Given the description of an element on the screen output the (x, y) to click on. 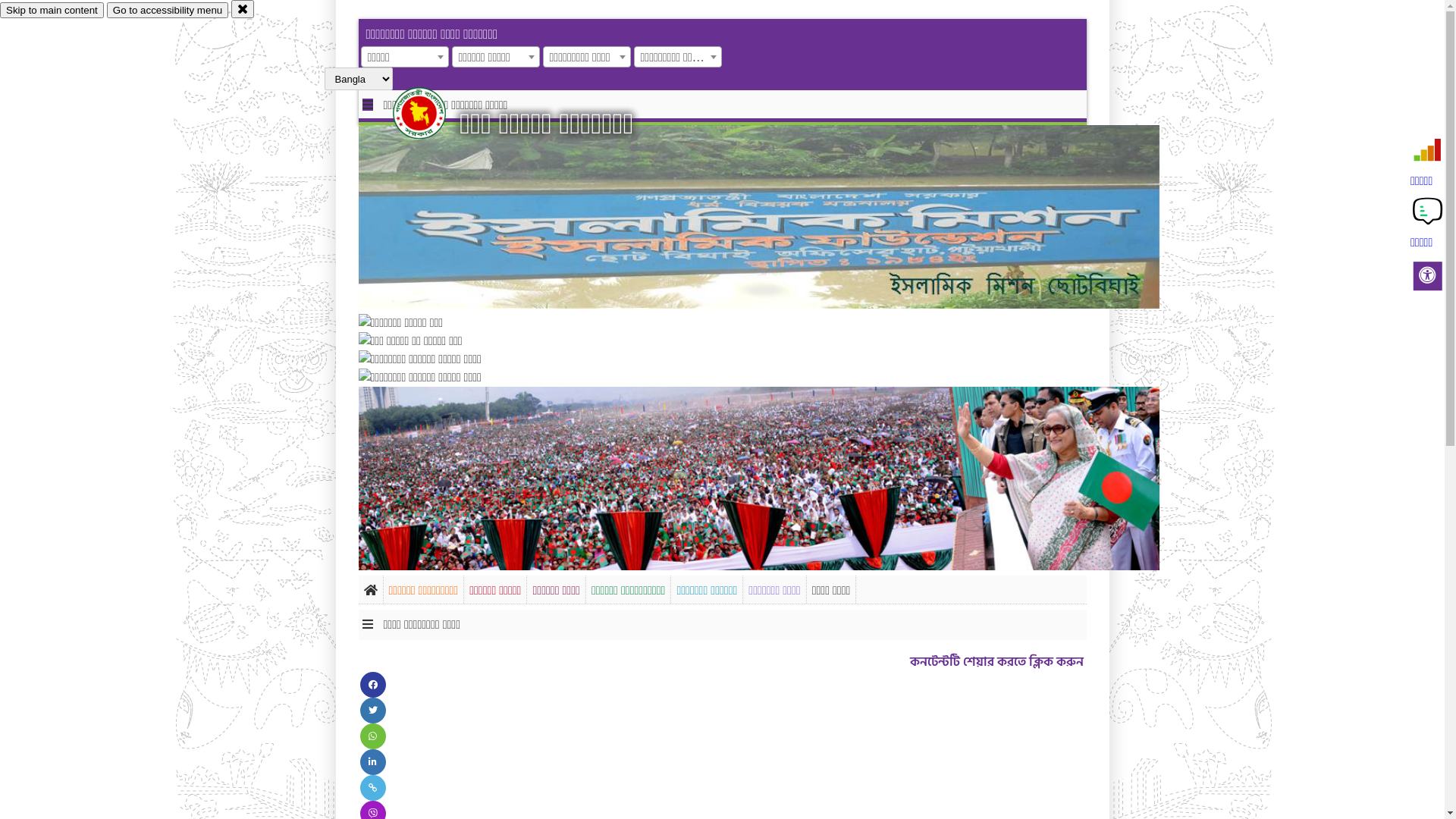
Skip to main content Element type: text (51, 10)
close Element type: hover (242, 9)
Go to accessibility menu Element type: text (167, 10)

                
             Element type: hover (431, 112)
